Given the description of an element on the screen output the (x, y) to click on. 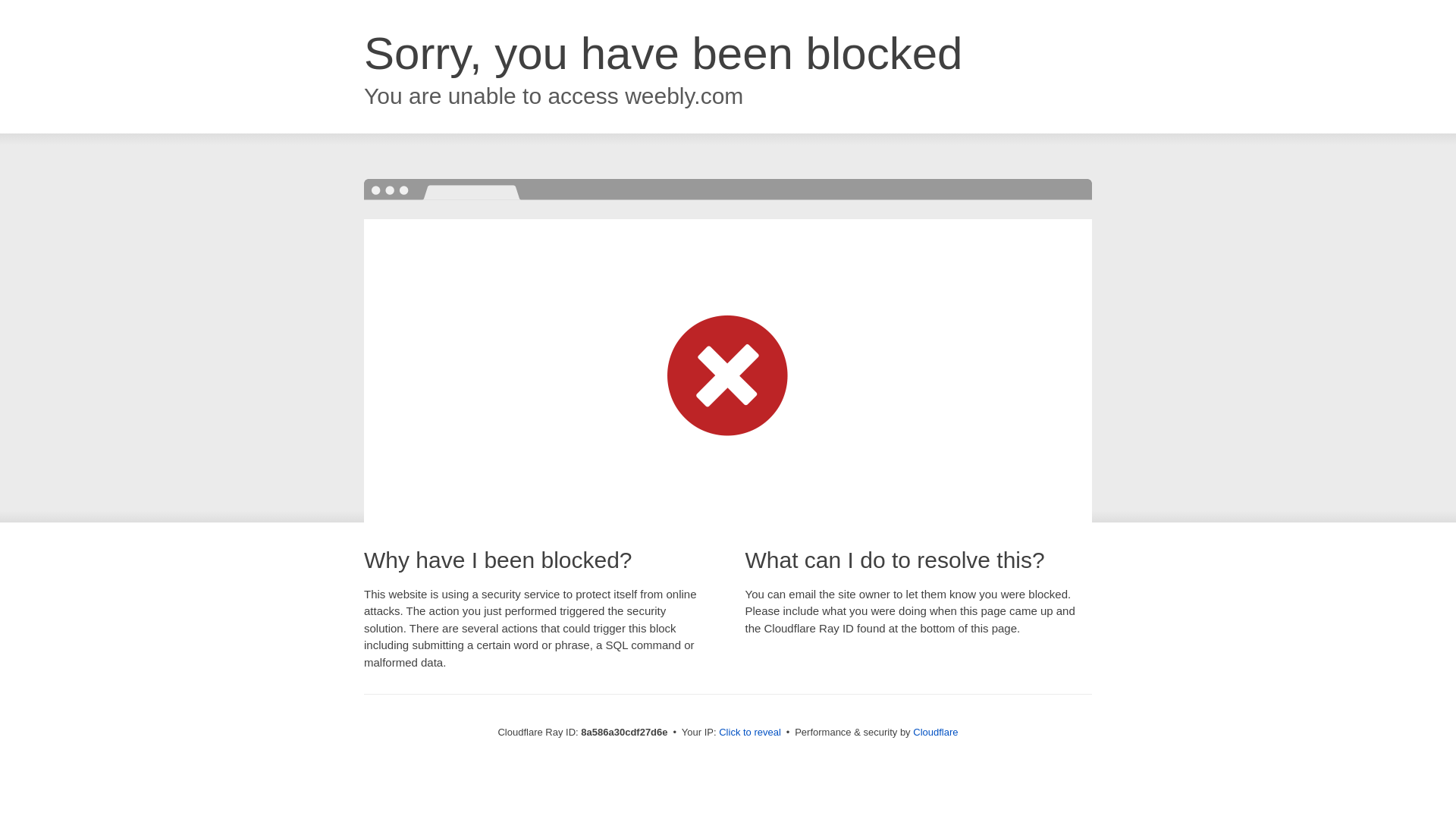
Click to reveal (749, 732)
Cloudflare (935, 731)
